Given the description of an element on the screen output the (x, y) to click on. 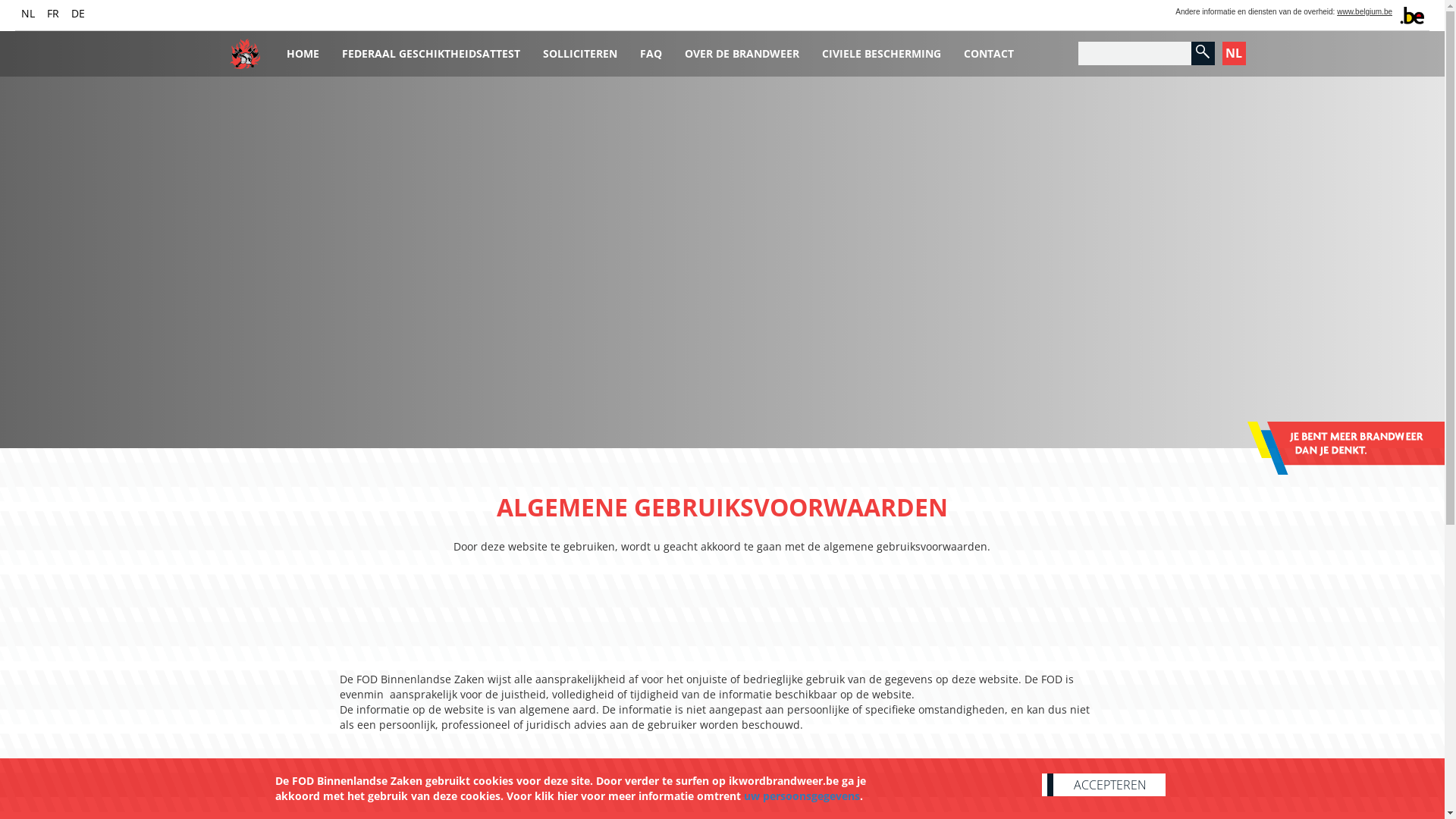
FEDERAAL GESCHIKTHEIDSATTEST Element type: text (430, 48)
ACCEPTEREN Element type: text (1103, 784)
FR Element type: text (53, 13)
FAQ Element type: text (649, 48)
NL Element type: text (27, 13)
SOLLICITEREN Element type: text (578, 48)
DE Element type: text (77, 13)
uw persoonsgegevens Element type: text (801, 795)
HOME Element type: text (301, 48)
CONTACT Element type: text (988, 48)
OVER DE BRANDWEER Element type: text (741, 48)
NL Element type: text (1233, 52)
submit Element type: text (1202, 52)
CIVIELE BESCHERMING Element type: text (880, 48)
www.belgium.be Element type: text (1364, 11)
Home Element type: hover (244, 49)
